Given the description of an element on the screen output the (x, y) to click on. 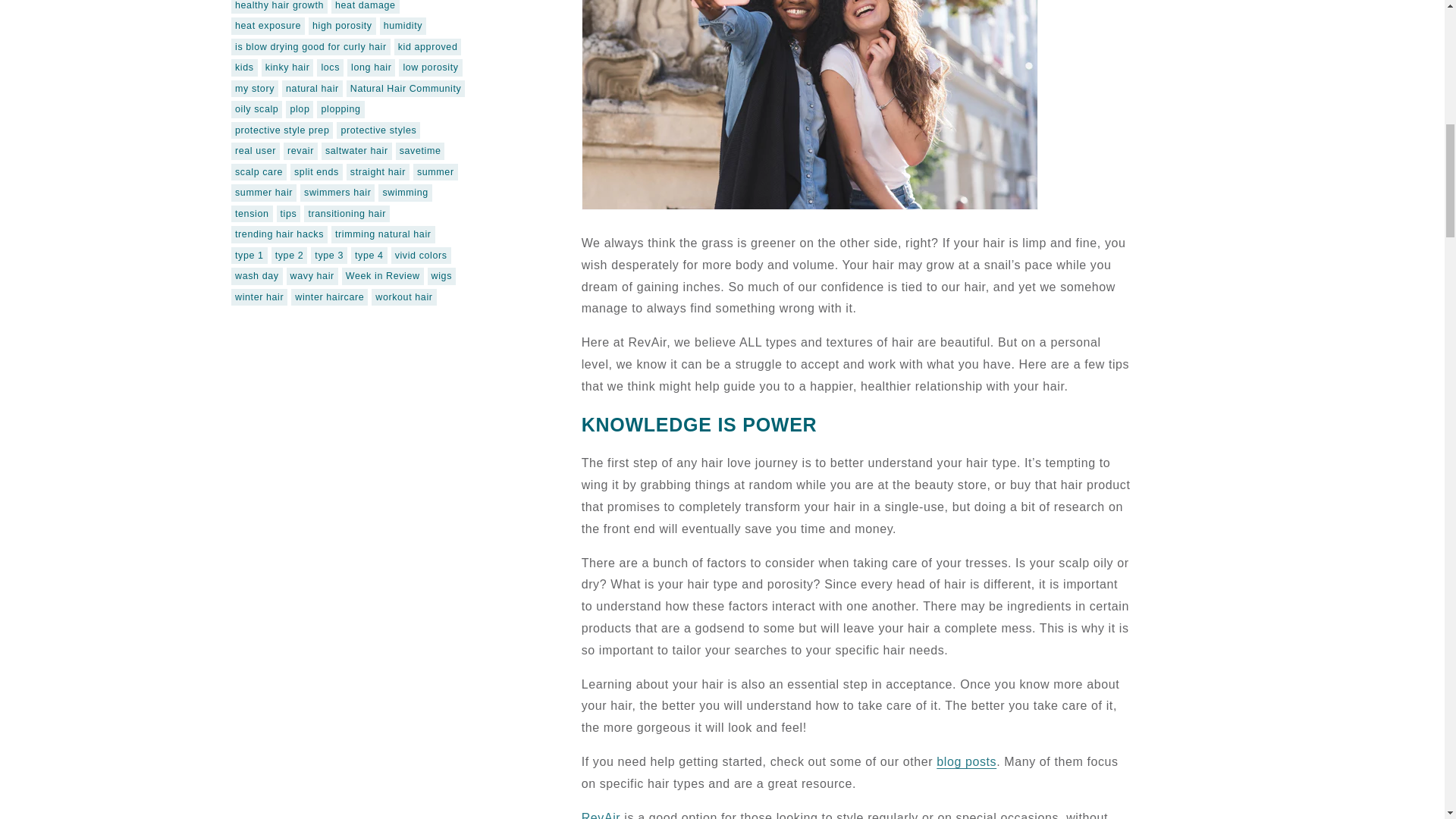
RevAir (600, 815)
Blog (965, 761)
